Given the description of an element on the screen output the (x, y) to click on. 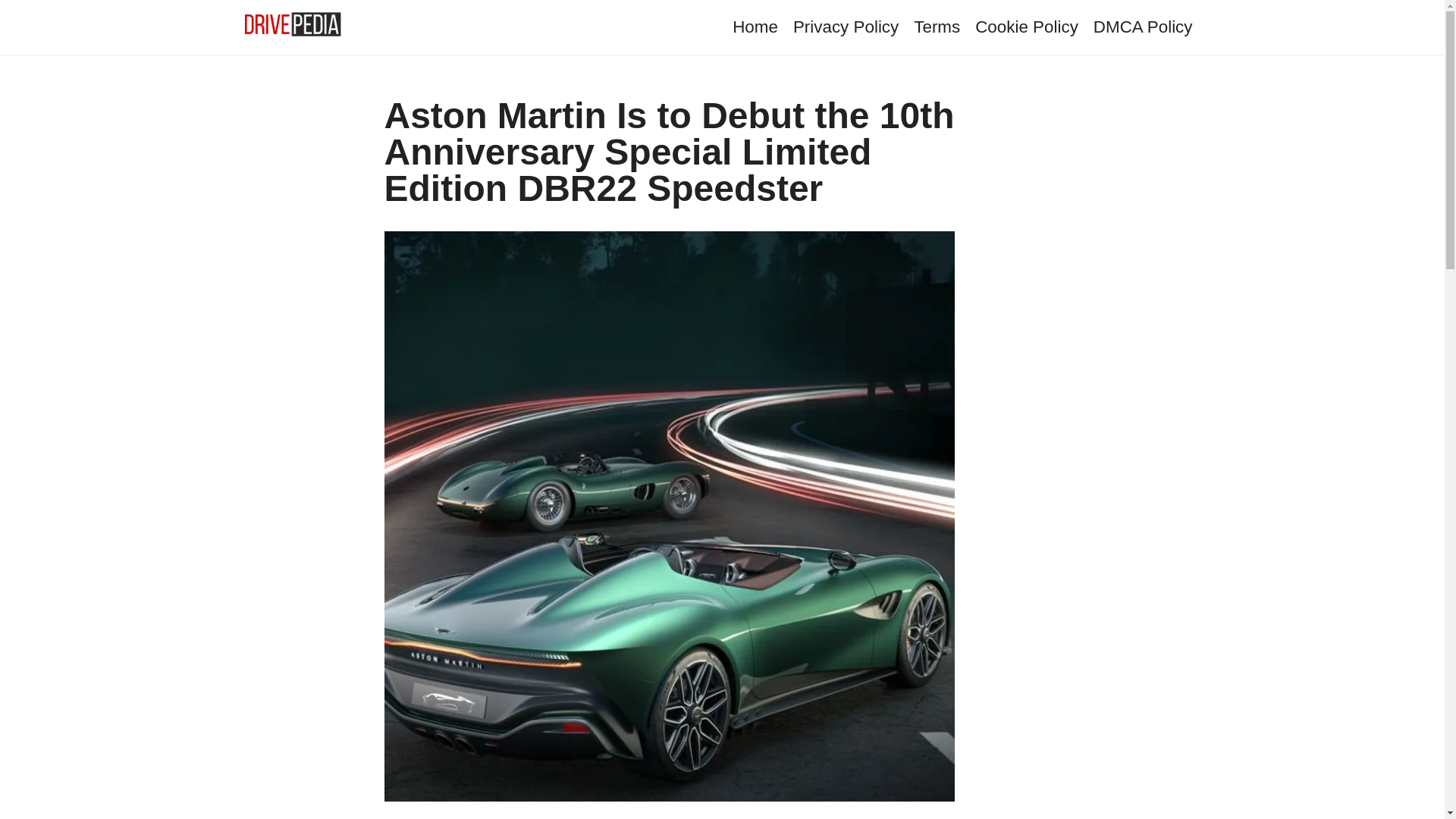
Cookie Policy (1026, 26)
Home (754, 26)
Privacy Policy (845, 26)
Terms (936, 26)
DMCA Policy (1142, 26)
